Given the description of an element on the screen output the (x, y) to click on. 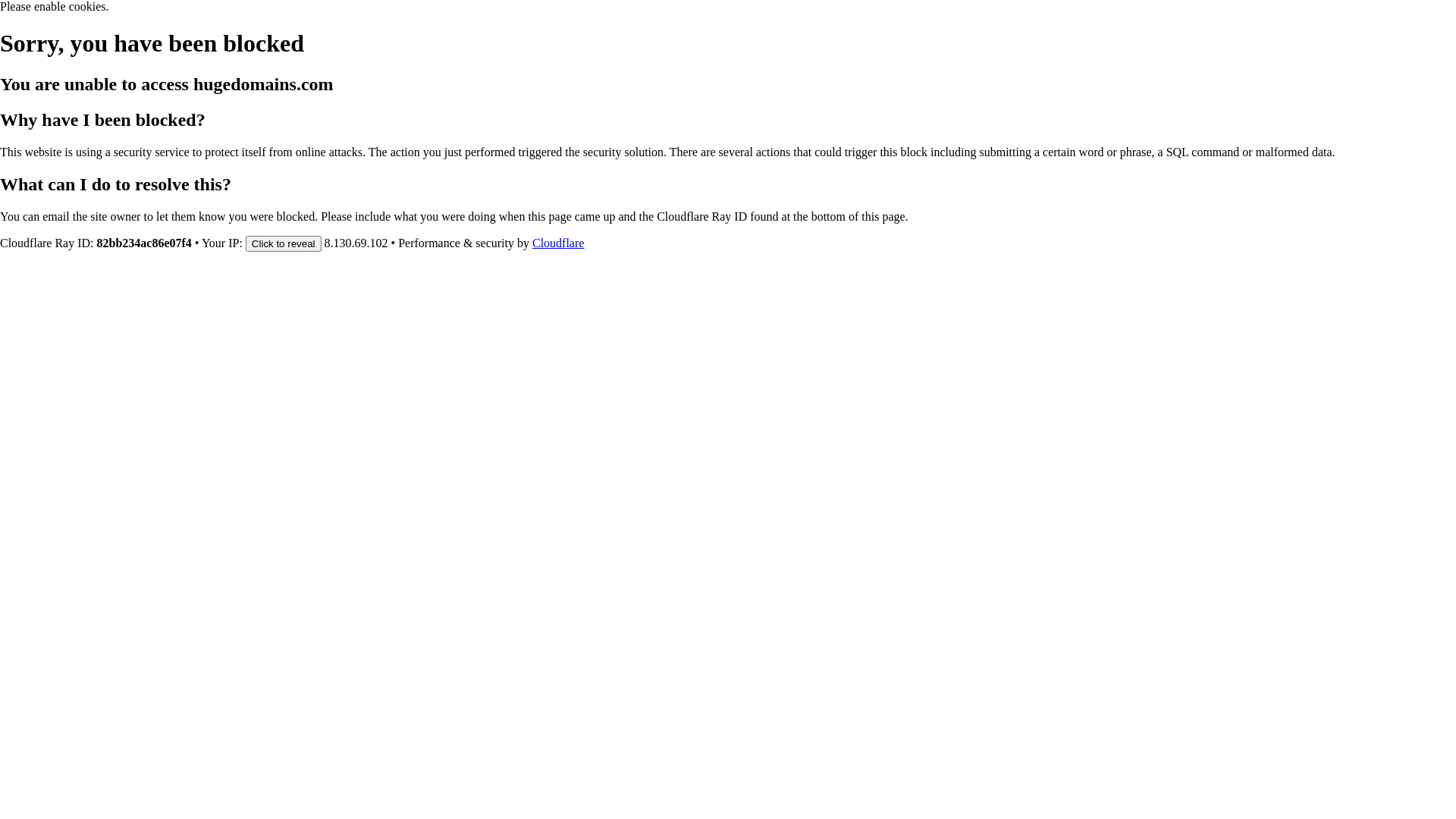
Click to reveal Element type: text (283, 243)
Cloudflare Element type: text (557, 242)
